Given the description of an element on the screen output the (x, y) to click on. 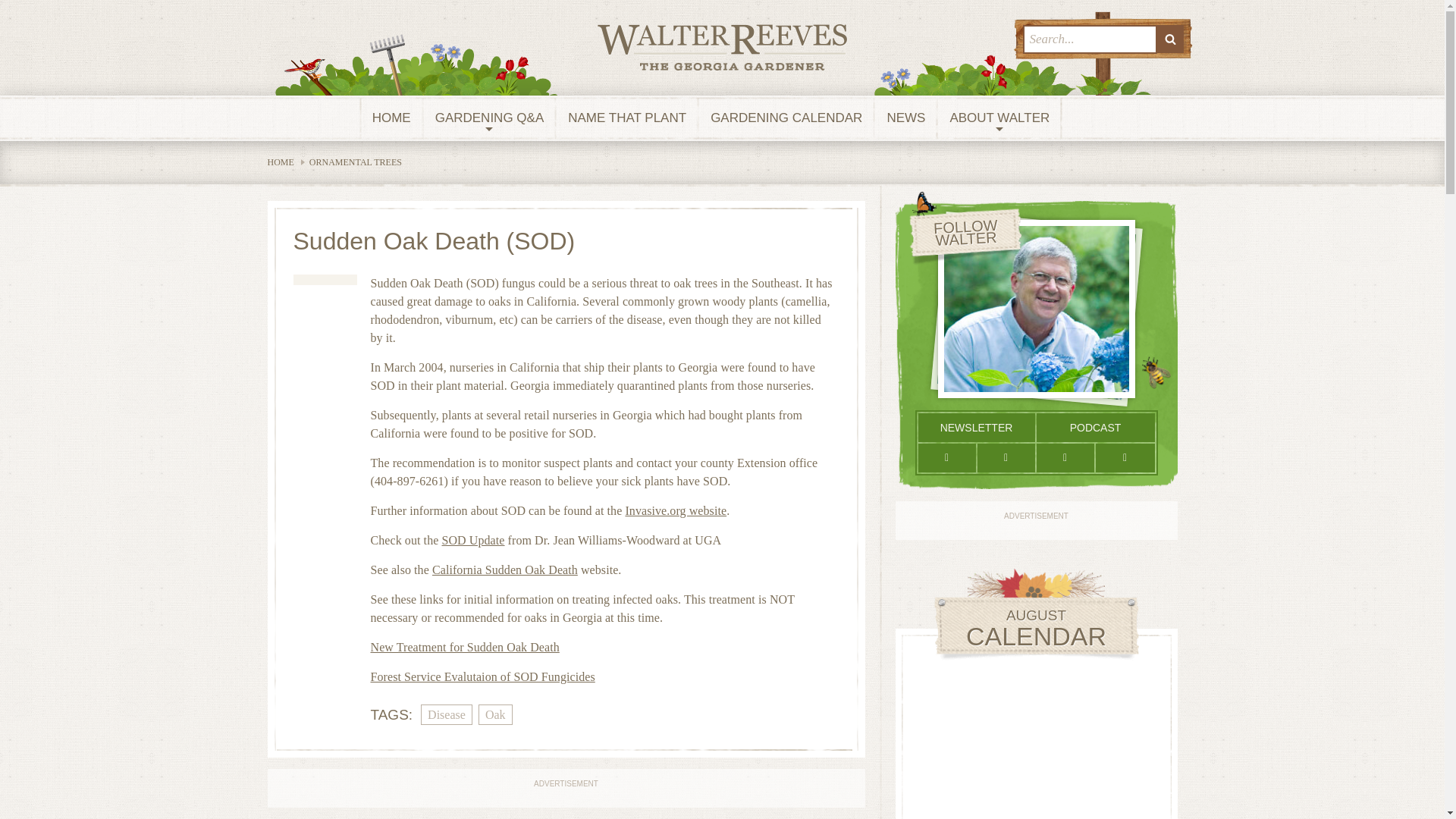
SEARCH (1170, 39)
Search for: (1089, 39)
HOME (391, 117)
GARDENING CALENDAR (786, 117)
NAME THAT PLANT (627, 117)
ABOUT WALTER (999, 117)
NEWS (906, 117)
